Given the description of an element on the screen output the (x, y) to click on. 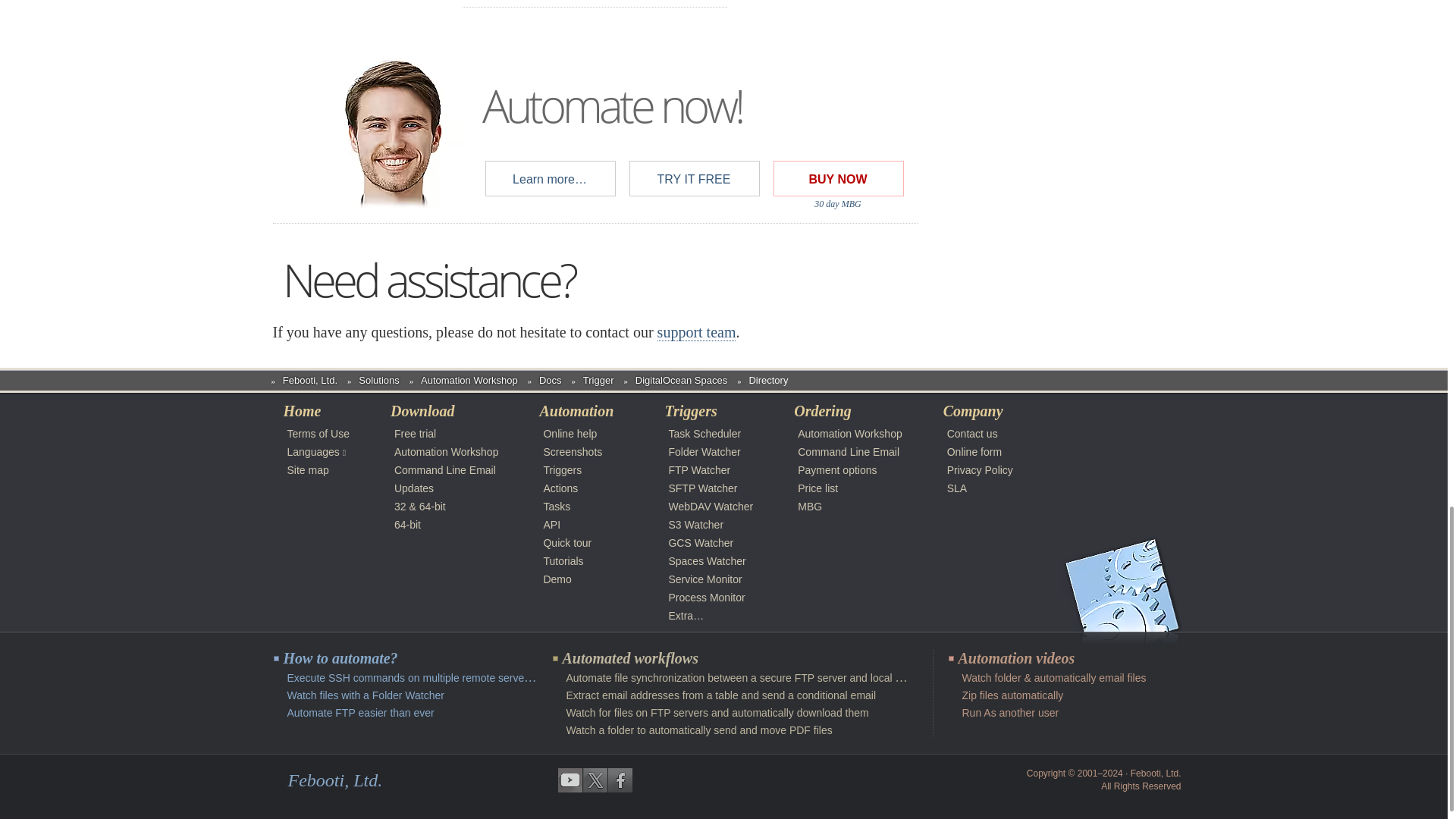
TRY IT FREE (693, 179)
BUY NOW (837, 179)
support team (697, 332)
30 day MBG (836, 204)
